Given the description of an element on the screen output the (x, y) to click on. 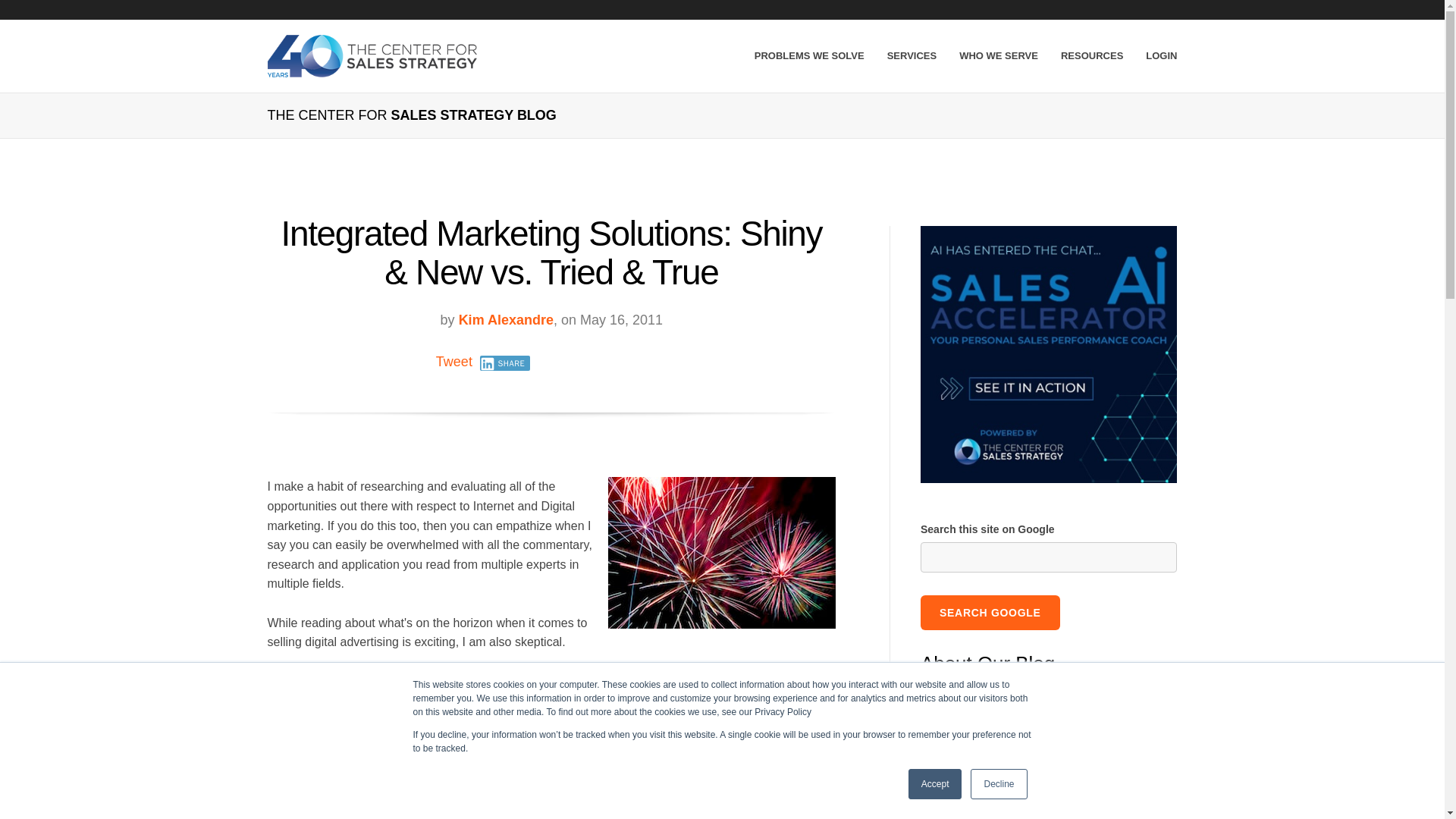
Accept (935, 784)
SEARCH GOOGLE (989, 612)
WHO WE SERVE (998, 55)
Decline (998, 784)
SERVICES (911, 55)
SHARE (504, 363)
Tweet (453, 361)
Kim Alexandre (505, 319)
PROBLEMS WE SOLVE (809, 55)
RESOURCES (1091, 55)
